Given the description of an element on the screen output the (x, y) to click on. 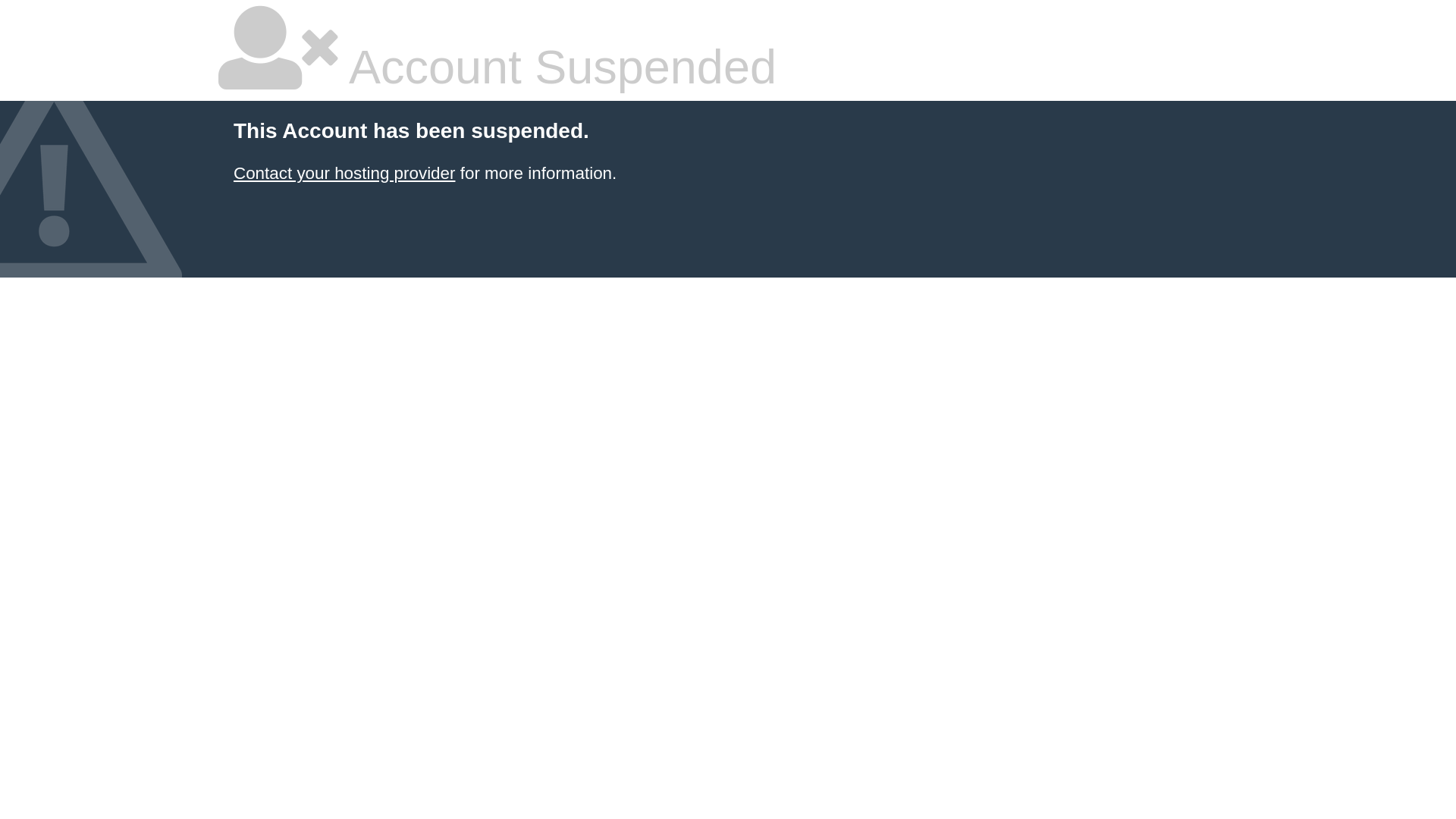
Contact your hosting provider Element type: text (344, 172)
